Given the description of an element on the screen output the (x, y) to click on. 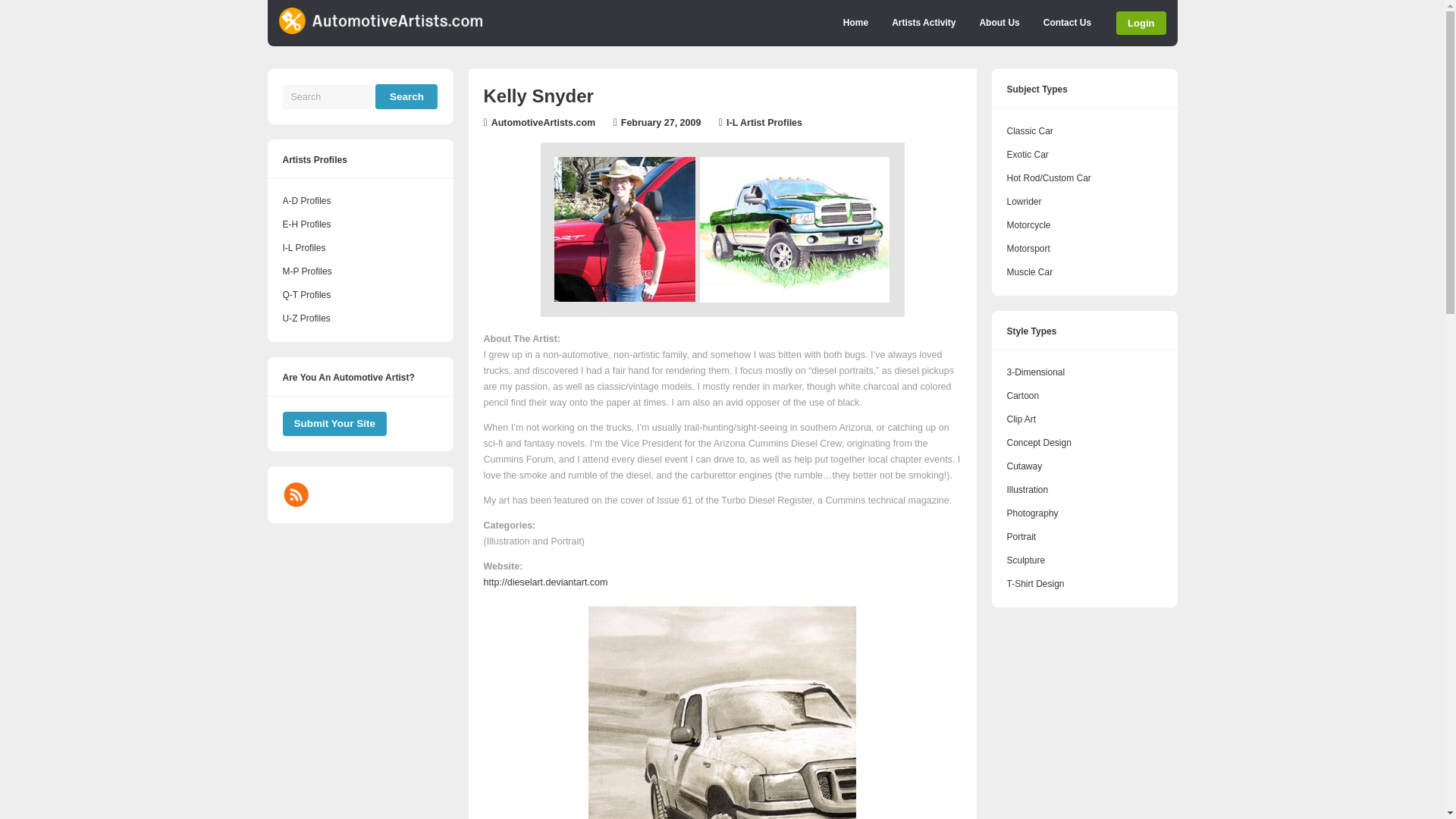
I-L Artist Profiles (303, 247)
Submit Your Site (334, 423)
Search (406, 96)
Lowrider (1024, 201)
I-L Artist Profiles (764, 122)
Home (854, 22)
Search (406, 96)
M-P Artist Profiles (306, 271)
Artists Activity (923, 22)
Motorcycle (1029, 225)
